Given the description of an element on the screen output the (x, y) to click on. 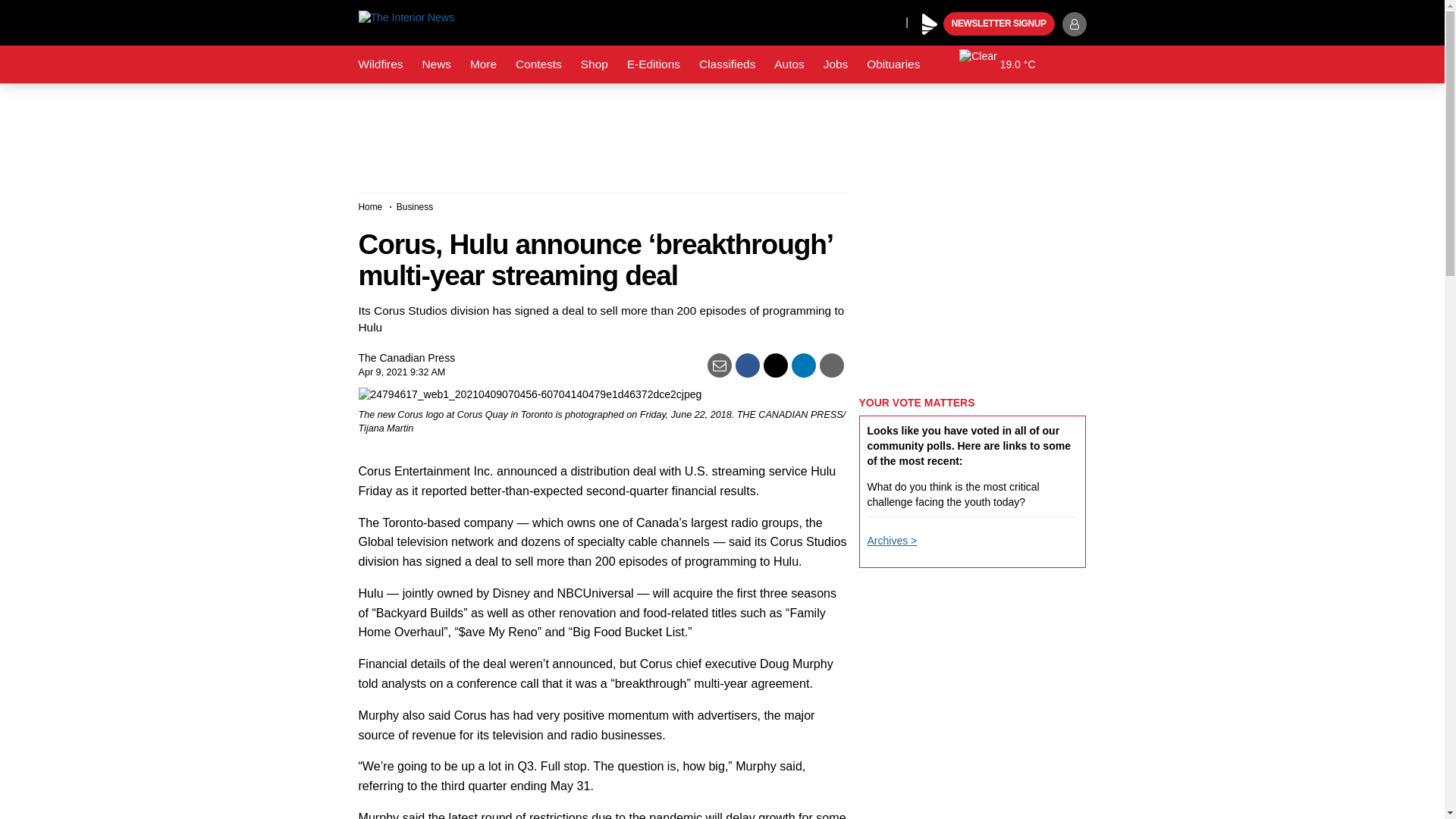
Wildfires (380, 64)
X (889, 21)
Play (929, 24)
News (435, 64)
NEWSLETTER SIGNUP (998, 24)
Black Press Media (929, 24)
